Given the description of an element on the screen output the (x, y) to click on. 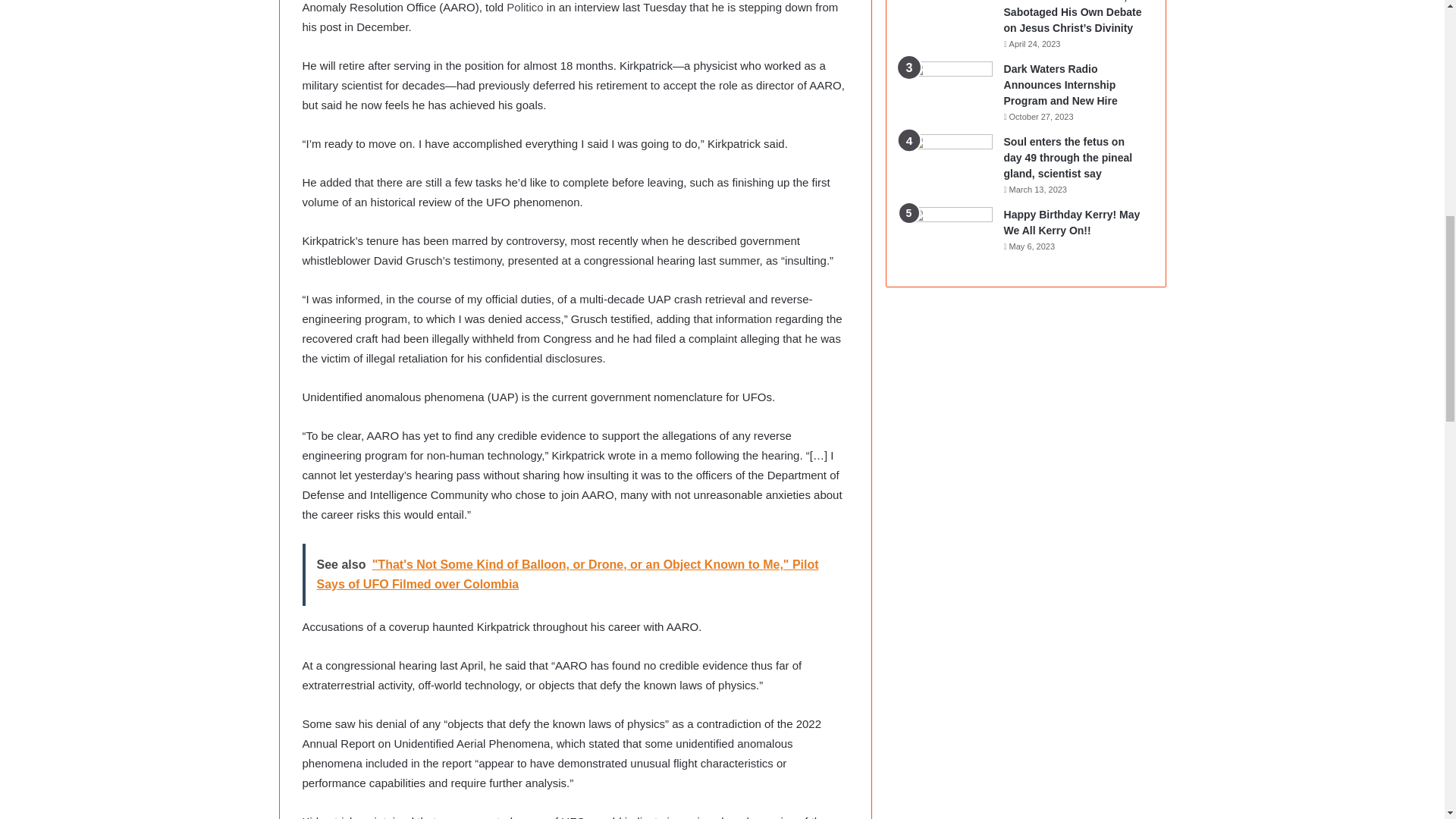
Politico (524, 6)
